Given the description of an element on the screen output the (x, y) to click on. 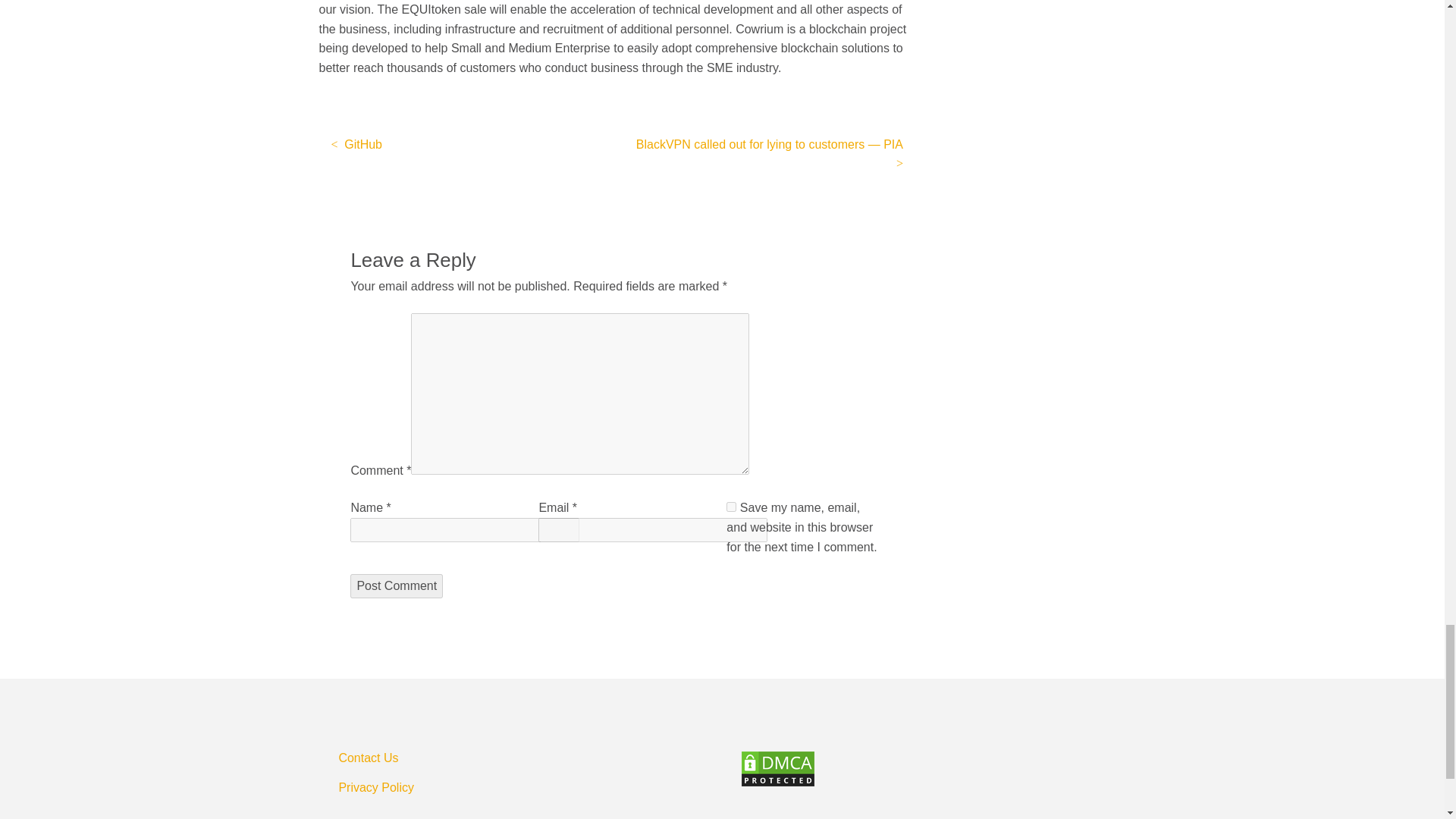
Post Comment (396, 586)
Content Protection by DMCA.com (932, 768)
GitHub (356, 144)
yes (731, 506)
Post Comment (396, 586)
